Given the description of an element on the screen output the (x, y) to click on. 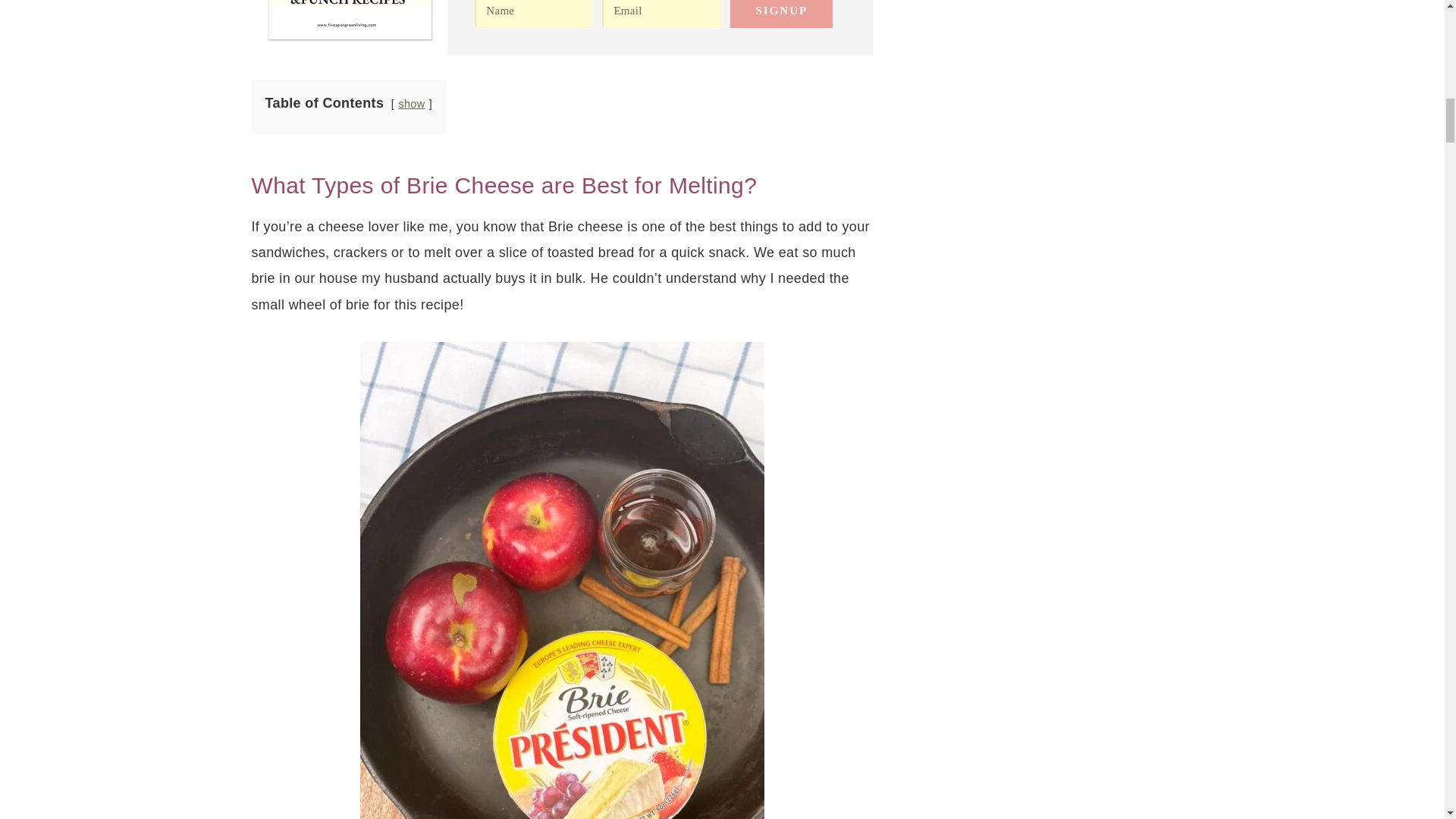
SIGNUP (781, 13)
show (411, 103)
